Given the description of an element on the screen output the (x, y) to click on. 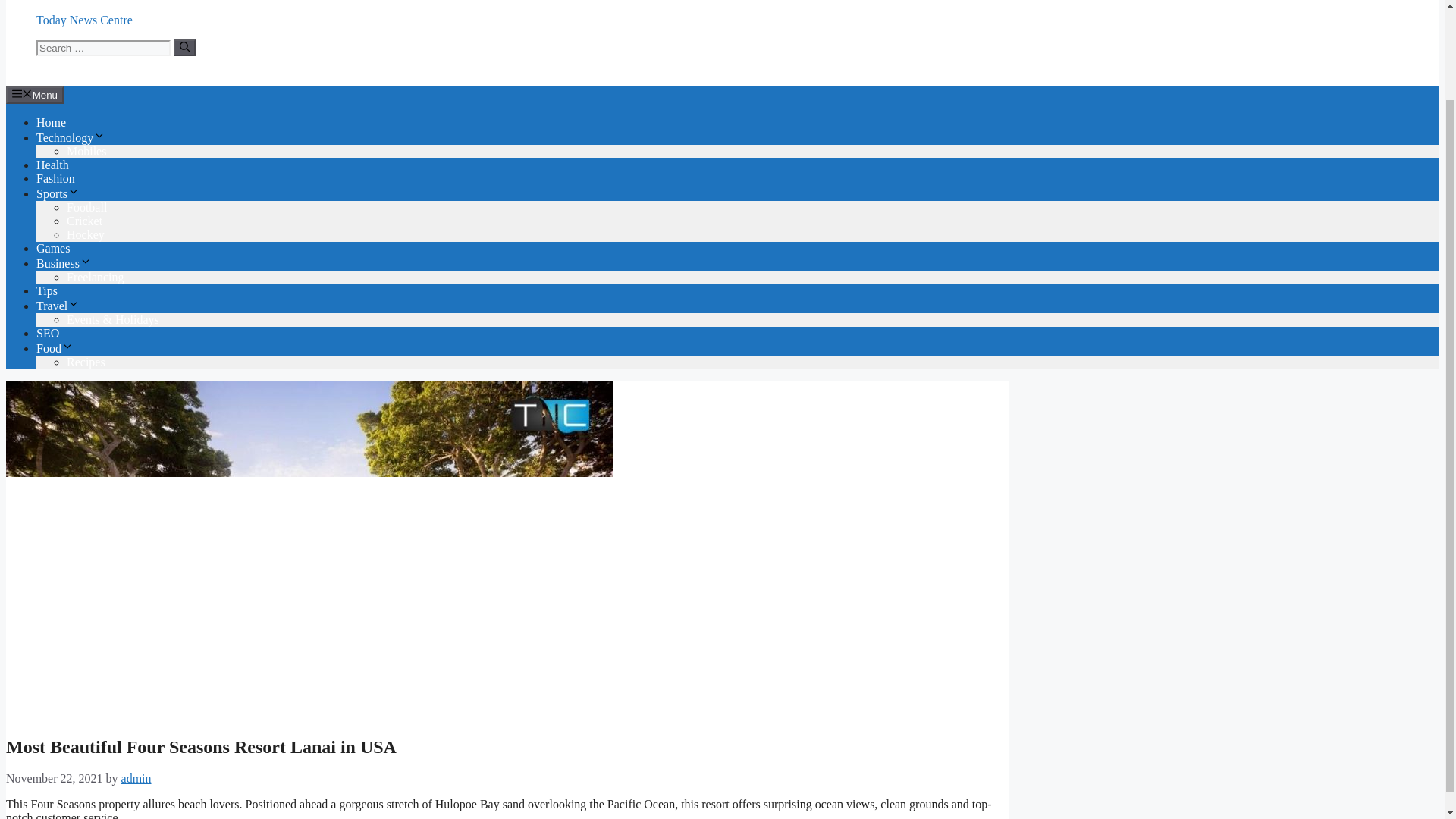
Home (50, 122)
Fashion (55, 178)
Travel (58, 305)
Hockey (85, 234)
Football (86, 206)
Technology (70, 137)
Cricket (83, 220)
Tips (47, 290)
Food (55, 348)
Games (52, 247)
